Given the description of an element on the screen output the (x, y) to click on. 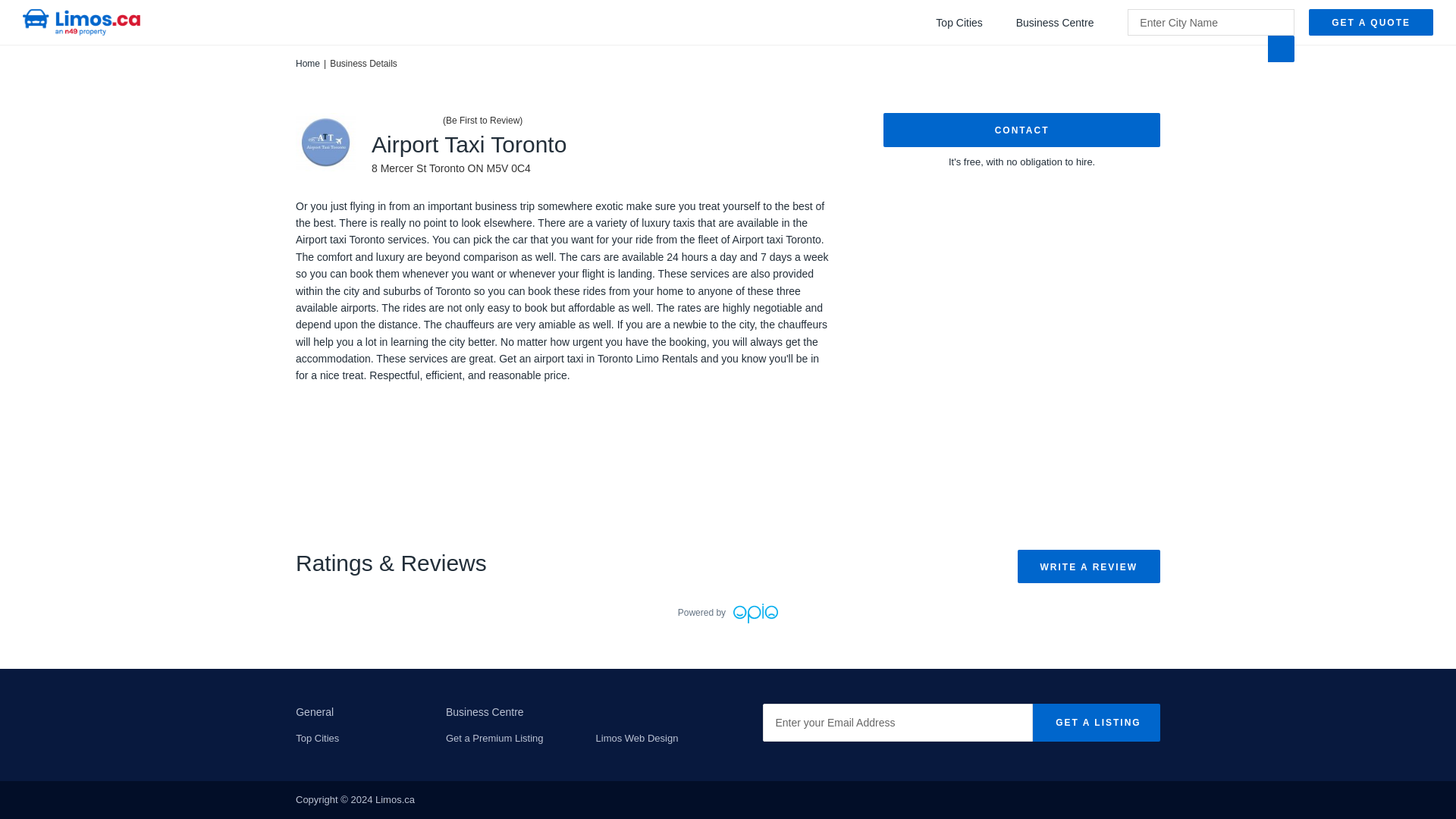
GET A QUOTE (1370, 22)
Go to Limos.ca. (307, 63)
Home (307, 63)
Get a Premium Listing (494, 737)
CONTACT (1021, 130)
Business Centre (1062, 22)
GET A LISTING (1095, 722)
WRITE A REVIEW (1088, 566)
GET A LISTING (1095, 722)
Top Cities (317, 737)
